Given the description of an element on the screen output the (x, y) to click on. 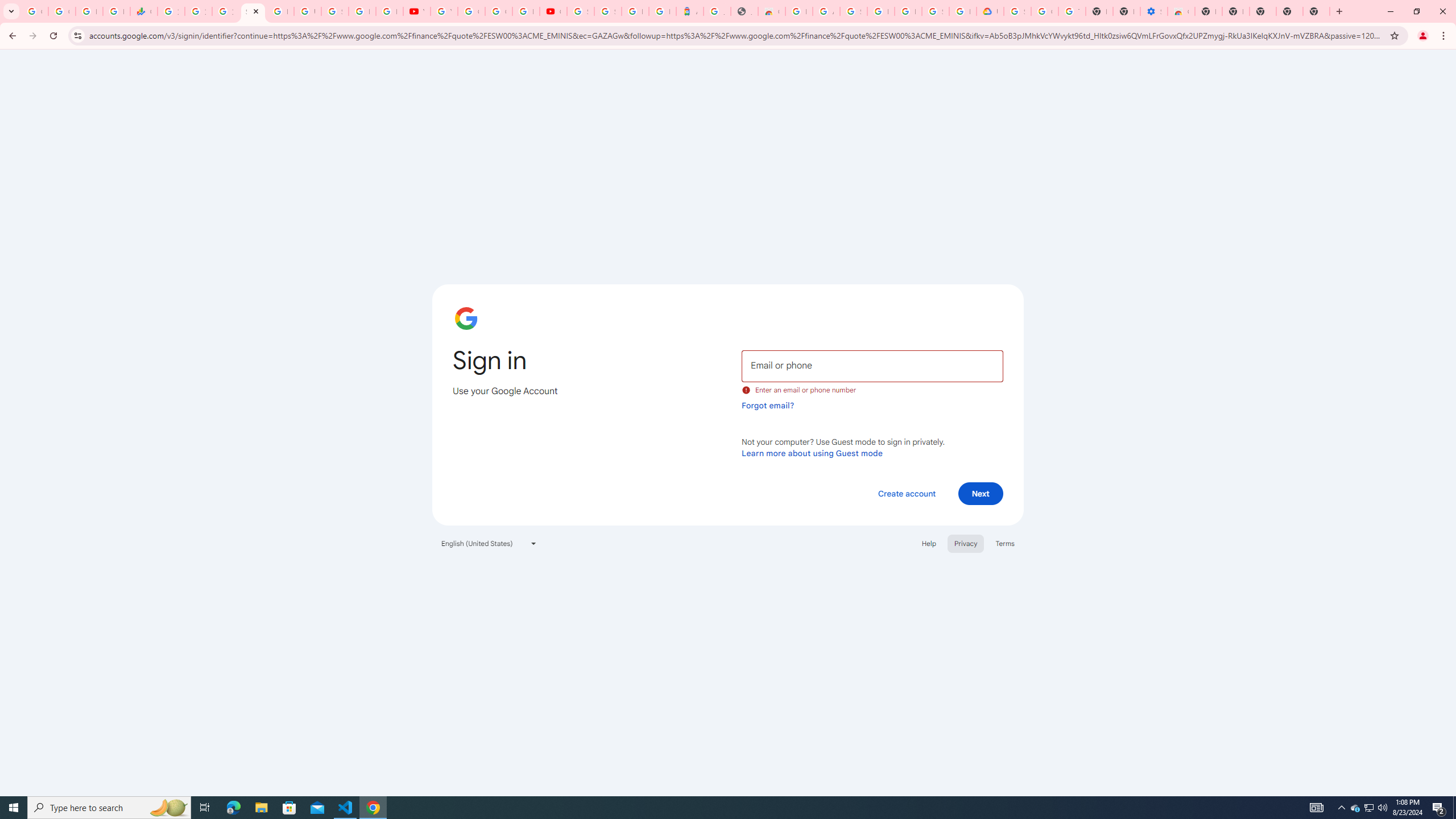
Privacy (965, 542)
English (United States) (489, 542)
Sign in - Google Accounts (853, 11)
Help (928, 542)
